Given the description of an element on the screen output the (x, y) to click on. 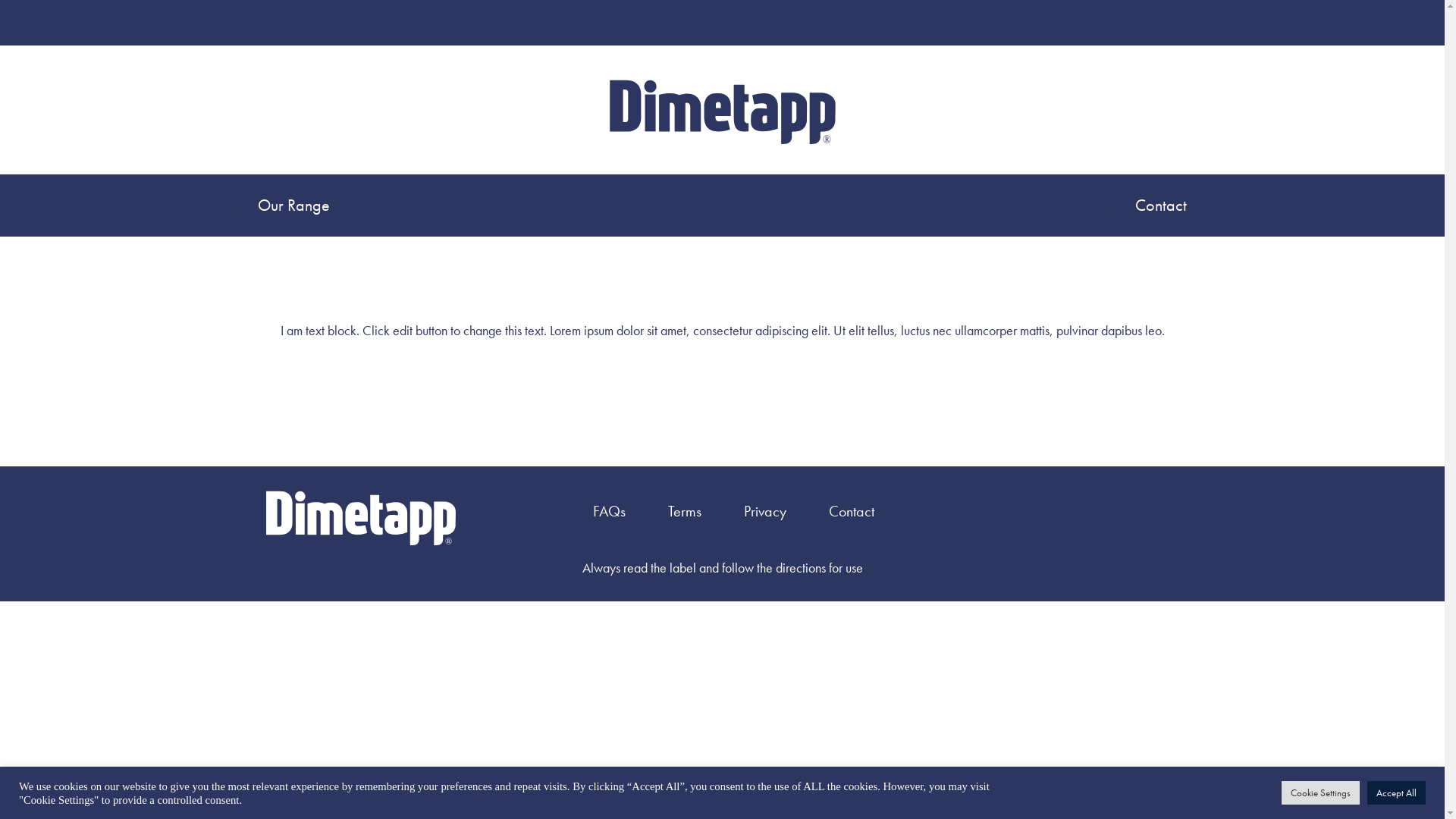
Contact Element type: text (1160, 205)
Our Range Element type: text (297, 205)
Accept All Element type: text (1396, 792)
Privacy Element type: text (764, 510)
Cookie Settings Element type: text (1320, 792)
Terms Element type: text (684, 510)
FAQs Element type: text (609, 510)
Contact Element type: text (851, 510)
